Given the description of an element on the screen output the (x, y) to click on. 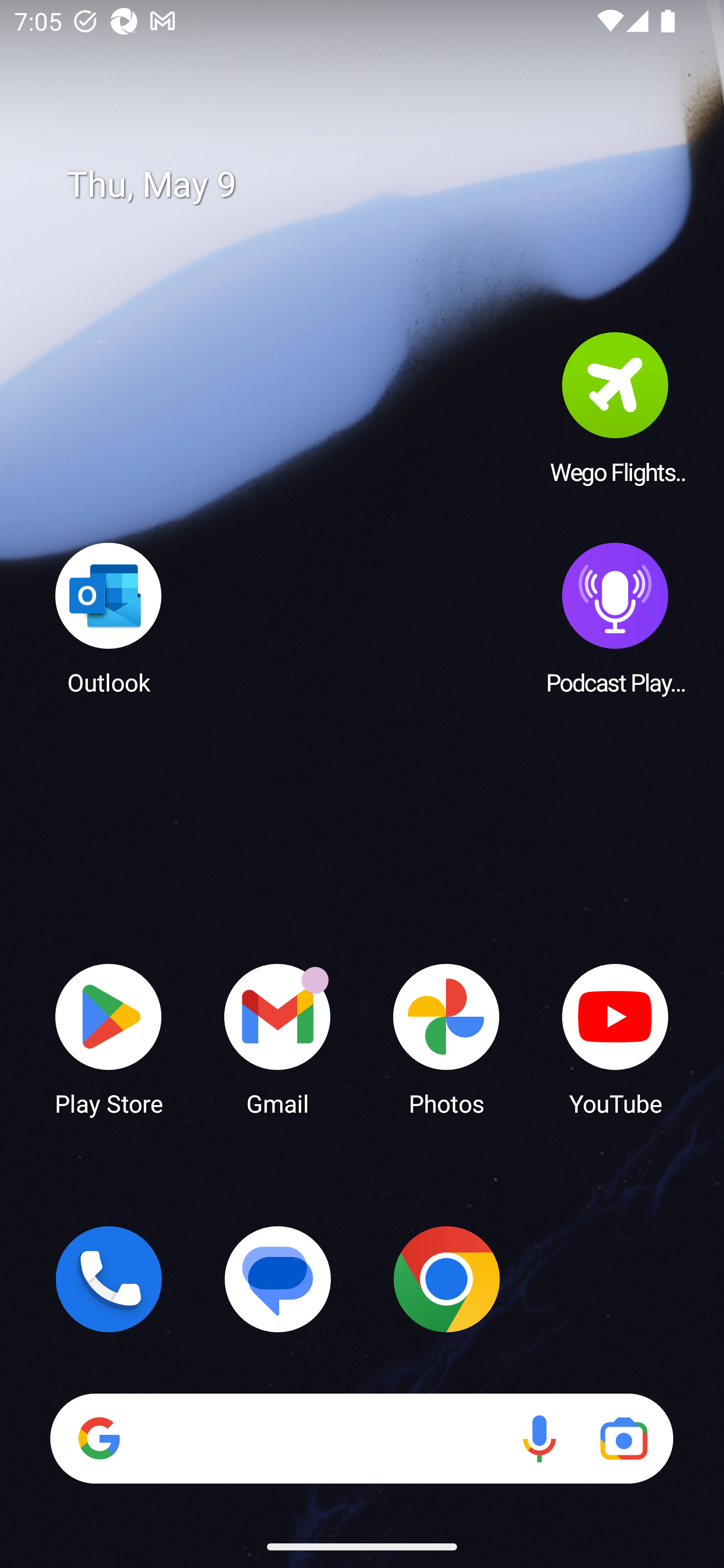
Thu, May 9 (375, 184)
Wego Flights & Hotels (615, 407)
Outlook (108, 617)
Podcast Player (615, 617)
Play Store (108, 1038)
Gmail Gmail has 18 notifications (277, 1038)
Photos (445, 1038)
YouTube (615, 1038)
Phone (108, 1279)
Messages (277, 1279)
Chrome (446, 1279)
Search Voice search Google Lens (361, 1438)
Voice search (539, 1438)
Google Lens (623, 1438)
